Given the description of an element on the screen output the (x, y) to click on. 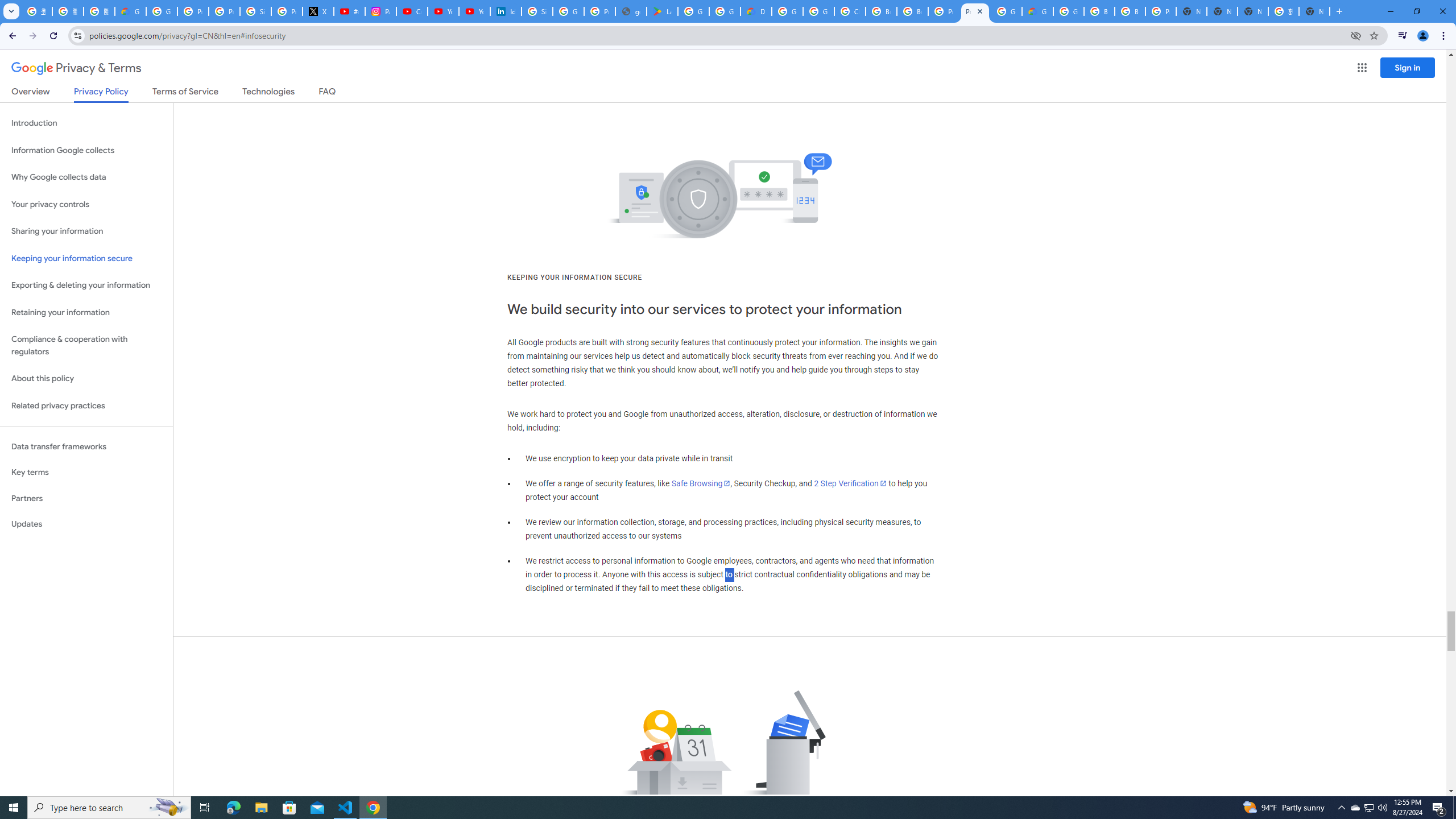
Google Cloud Platform (787, 11)
Key terms (86, 472)
Sign in - Google Accounts (536, 11)
Sharing your information (86, 230)
Google Cloud Platform (1068, 11)
Information Google collects (86, 150)
Keeping your information secure (86, 258)
New Tab (1338, 11)
